Given the description of an element on the screen output the (x, y) to click on. 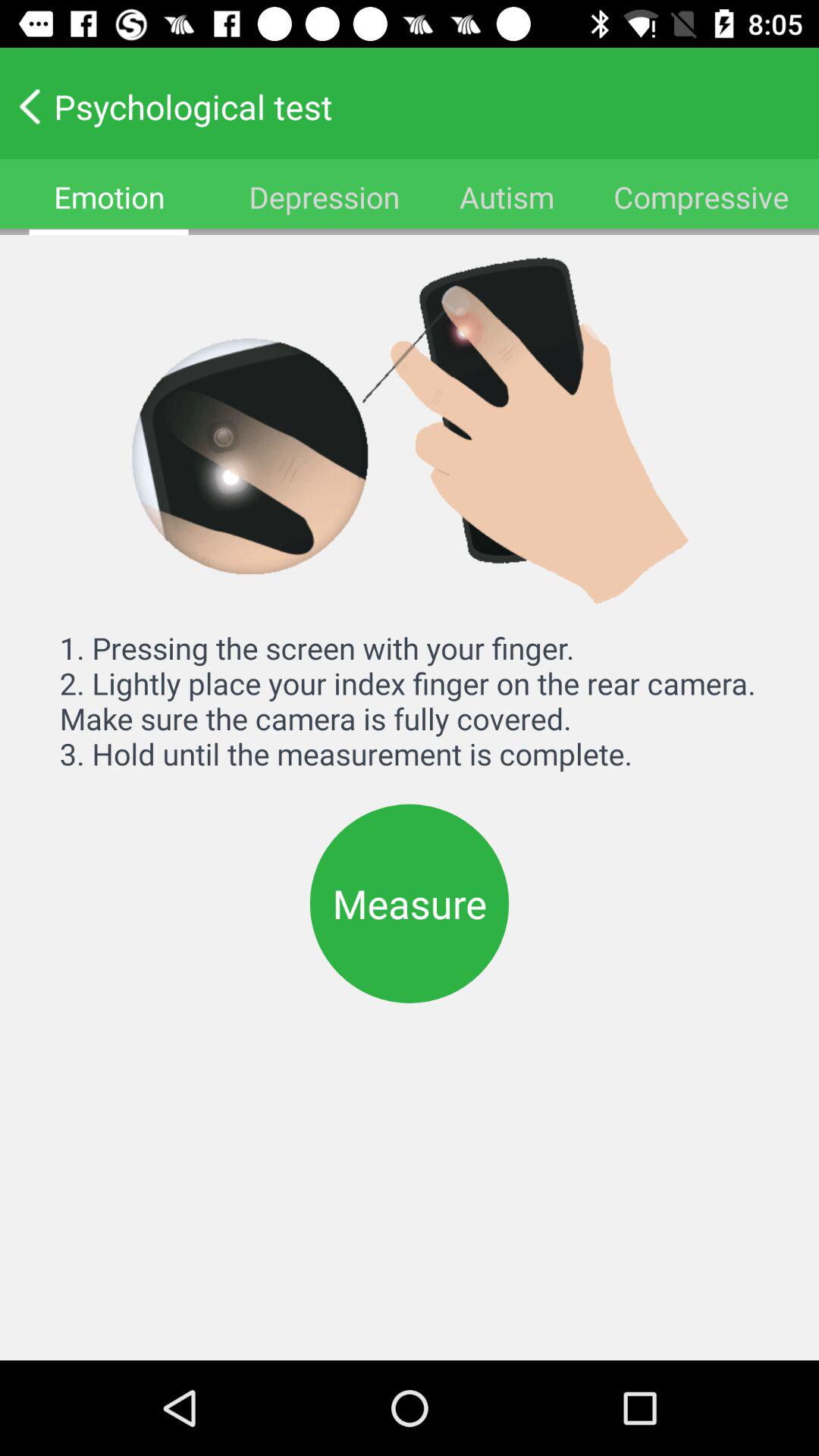
scroll until the depression icon (323, 196)
